Given the description of an element on the screen output the (x, y) to click on. 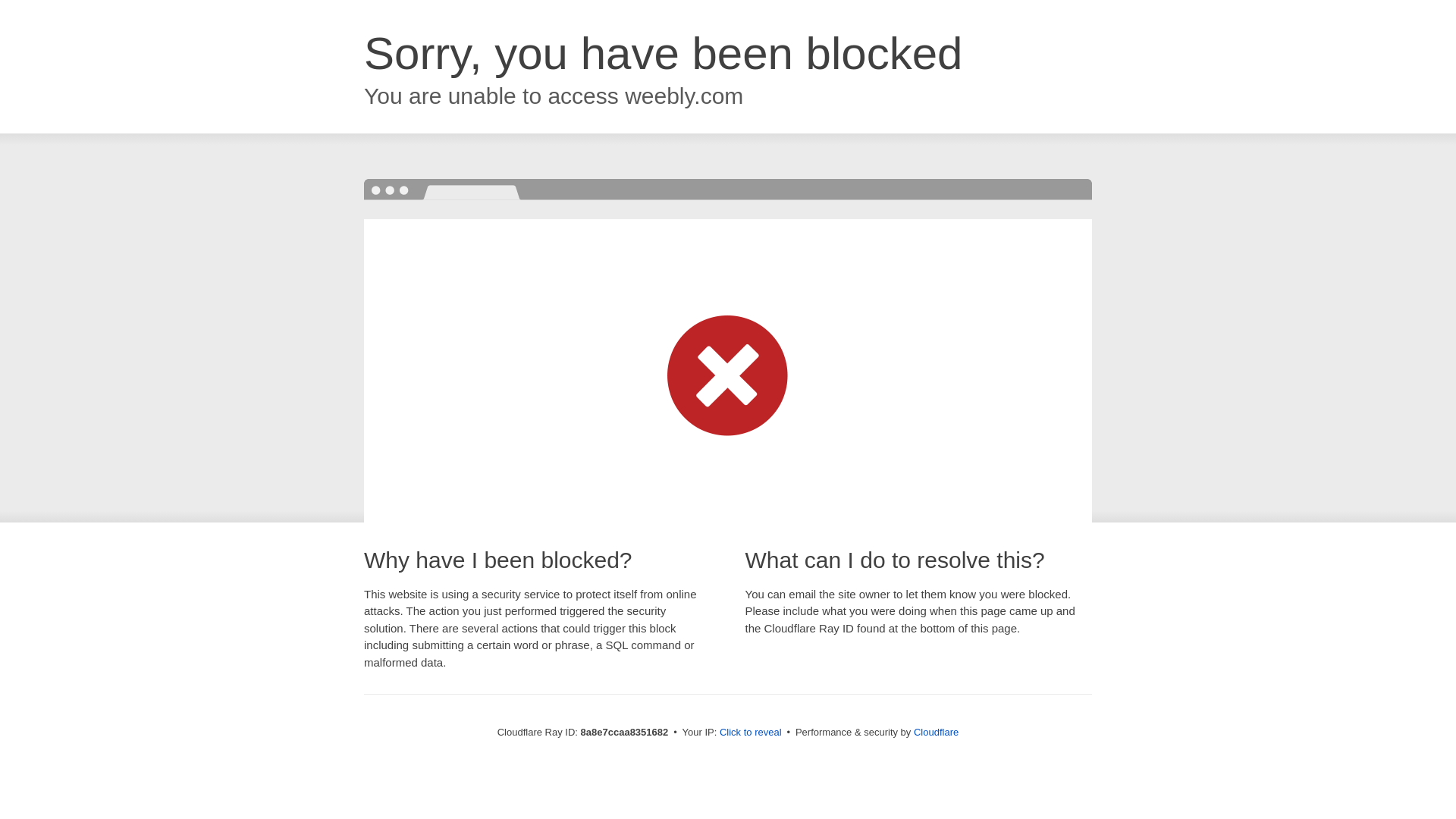
Cloudflare (936, 731)
Click to reveal (750, 732)
